Given the description of an element on the screen output the (x, y) to click on. 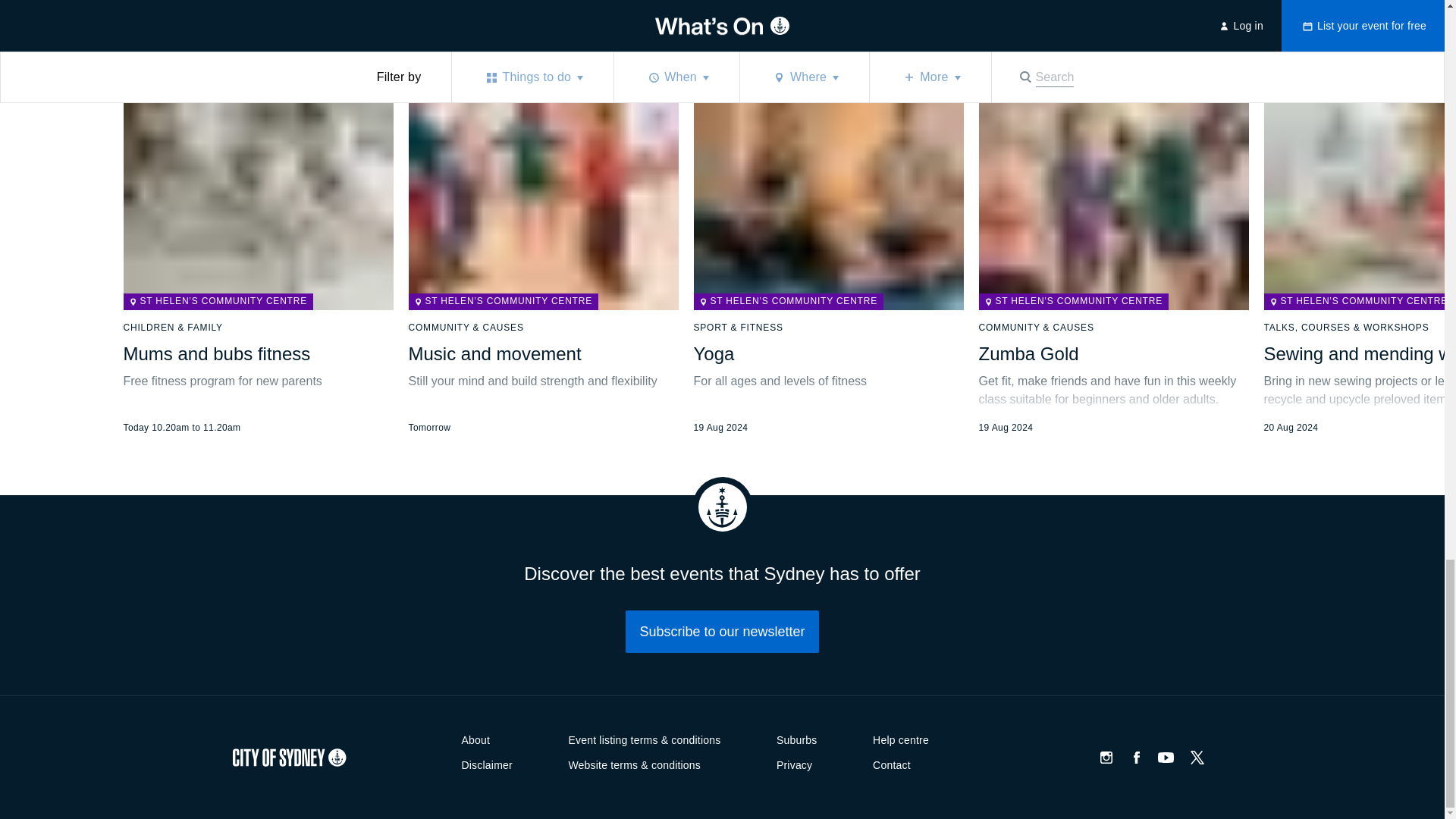
Music and movement (493, 353)
Mums and bubs fitness (216, 353)
See all (834, 4)
